Given the description of an element on the screen output the (x, y) to click on. 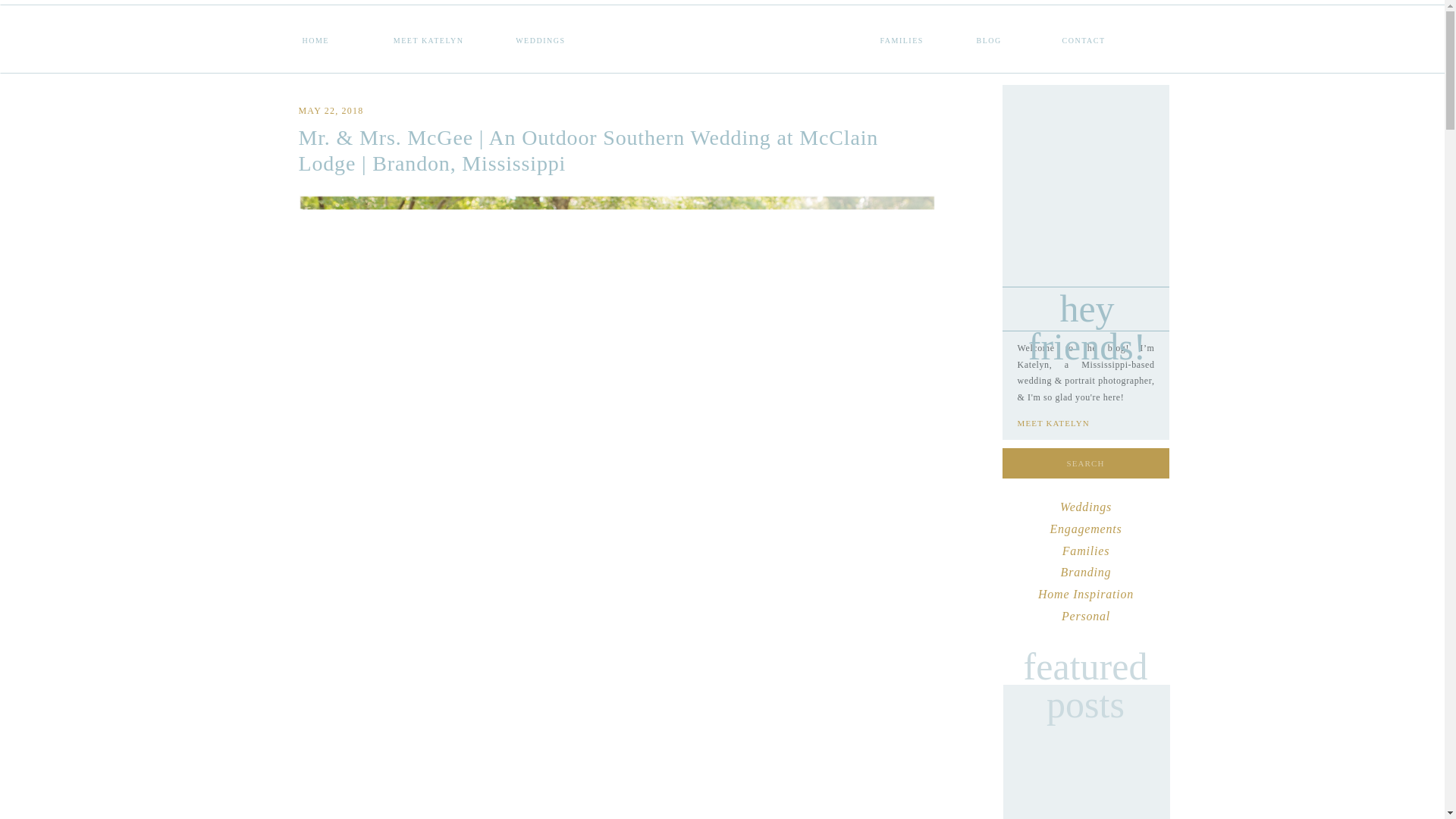
MEET KATELYN (1074, 423)
Engagements (1085, 528)
MEET KATELYN (416, 38)
BLOG (996, 20)
BLOG (996, 20)
Families (1085, 550)
HOME (320, 20)
FAMILIES (918, 20)
WEDDINGS (525, 38)
WEDDINGS (525, 20)
